Given the description of an element on the screen output the (x, y) to click on. 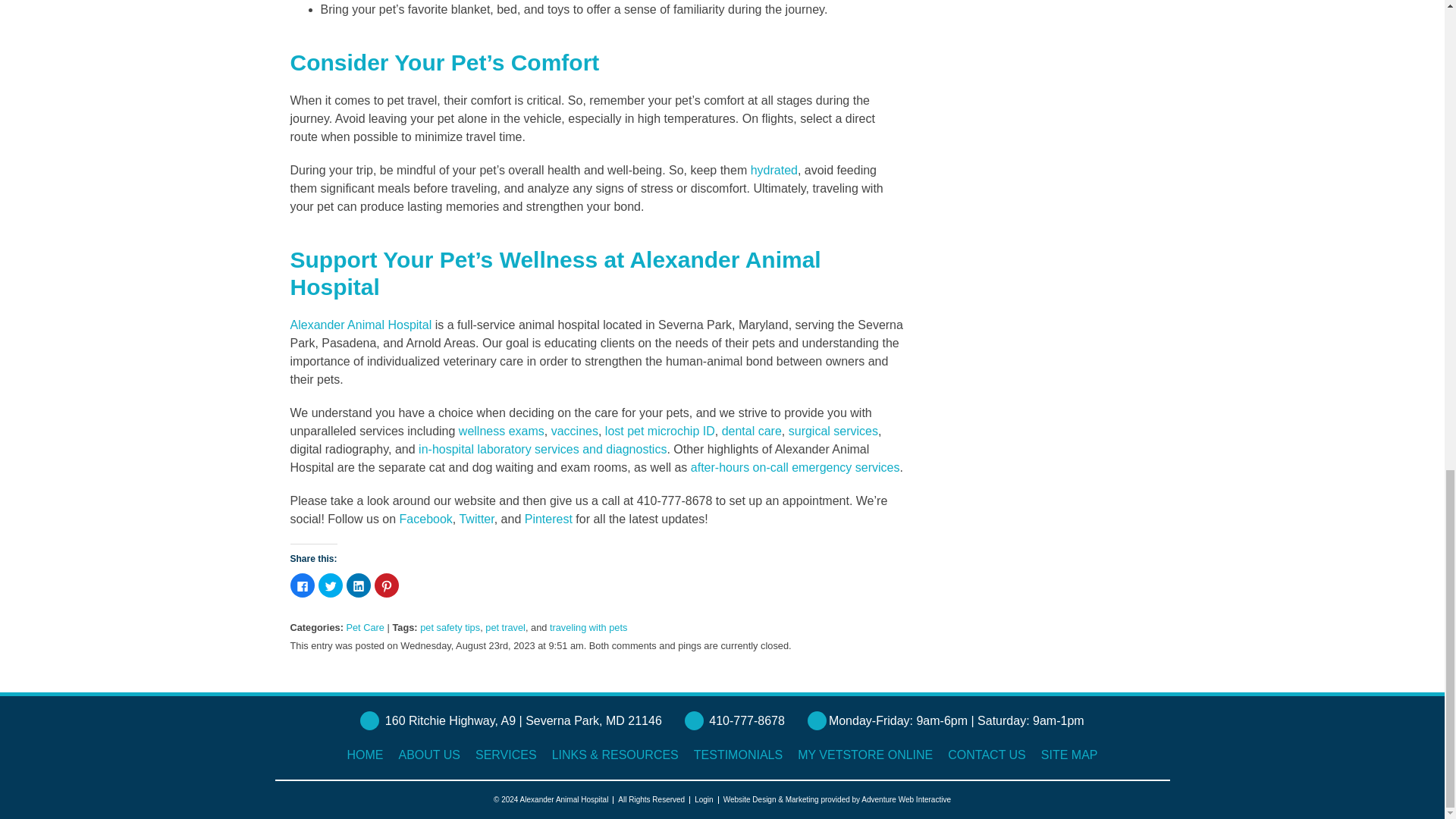
 vaccines (572, 431)
hydrated (774, 169)
Click to share on Twitter (330, 585)
 dental care (749, 431)
 surgical services (830, 431)
Pet Care (365, 627)
 after-hours on-call emergency services (793, 467)
 Twitter (474, 518)
 wellness exams (498, 431)
lost pet microchip ID (659, 431)
